Given the description of an element on the screen output the (x, y) to click on. 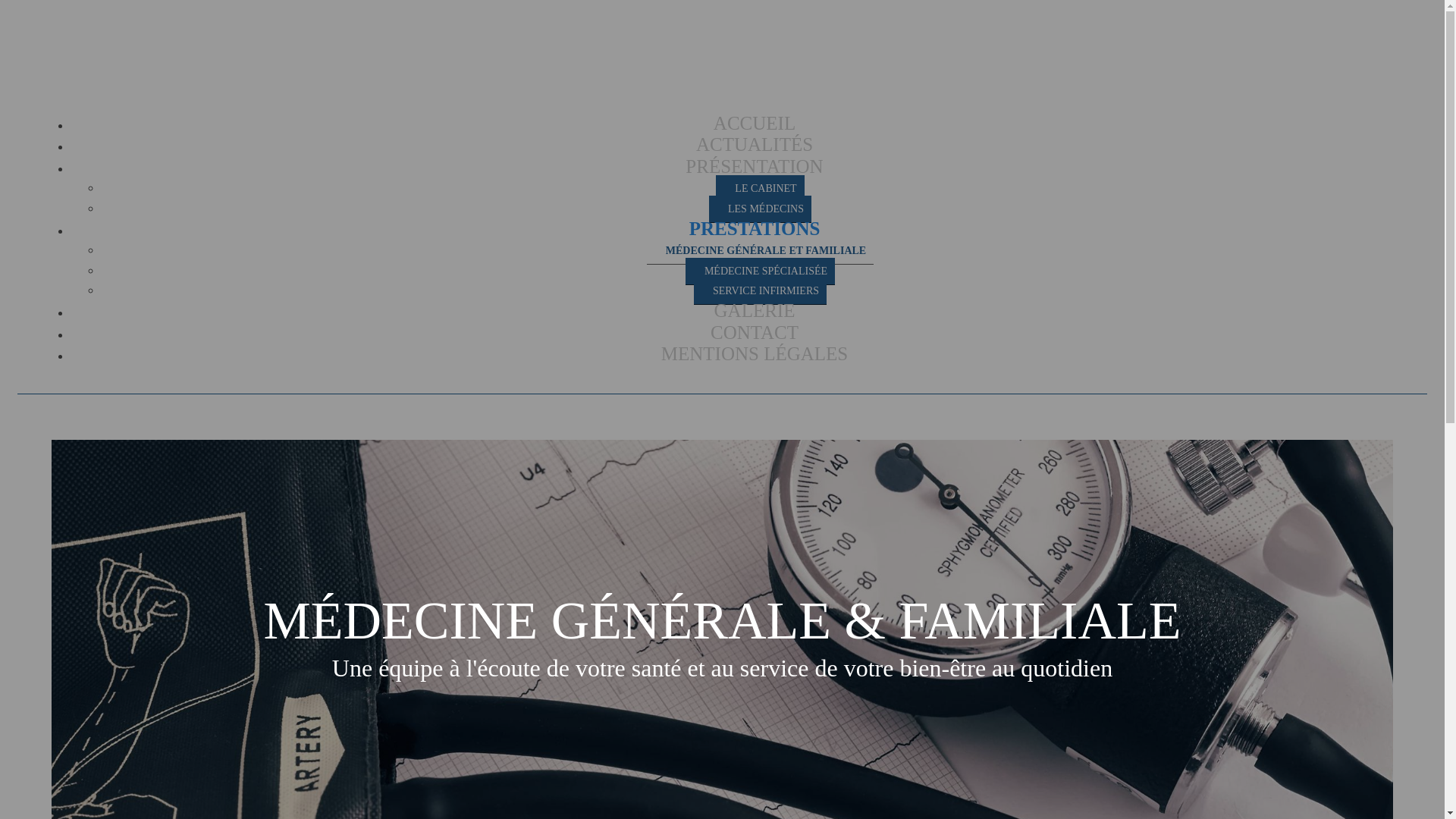
LE CABINET Element type: text (759, 188)
ACCUEIL Element type: text (754, 123)
PRESTATIONS Element type: text (754, 228)
SERVICE INFIRMIERS Element type: text (759, 290)
GALERIE Element type: text (754, 310)
CONTACT Element type: text (754, 332)
